Given the description of an element on the screen output the (x, y) to click on. 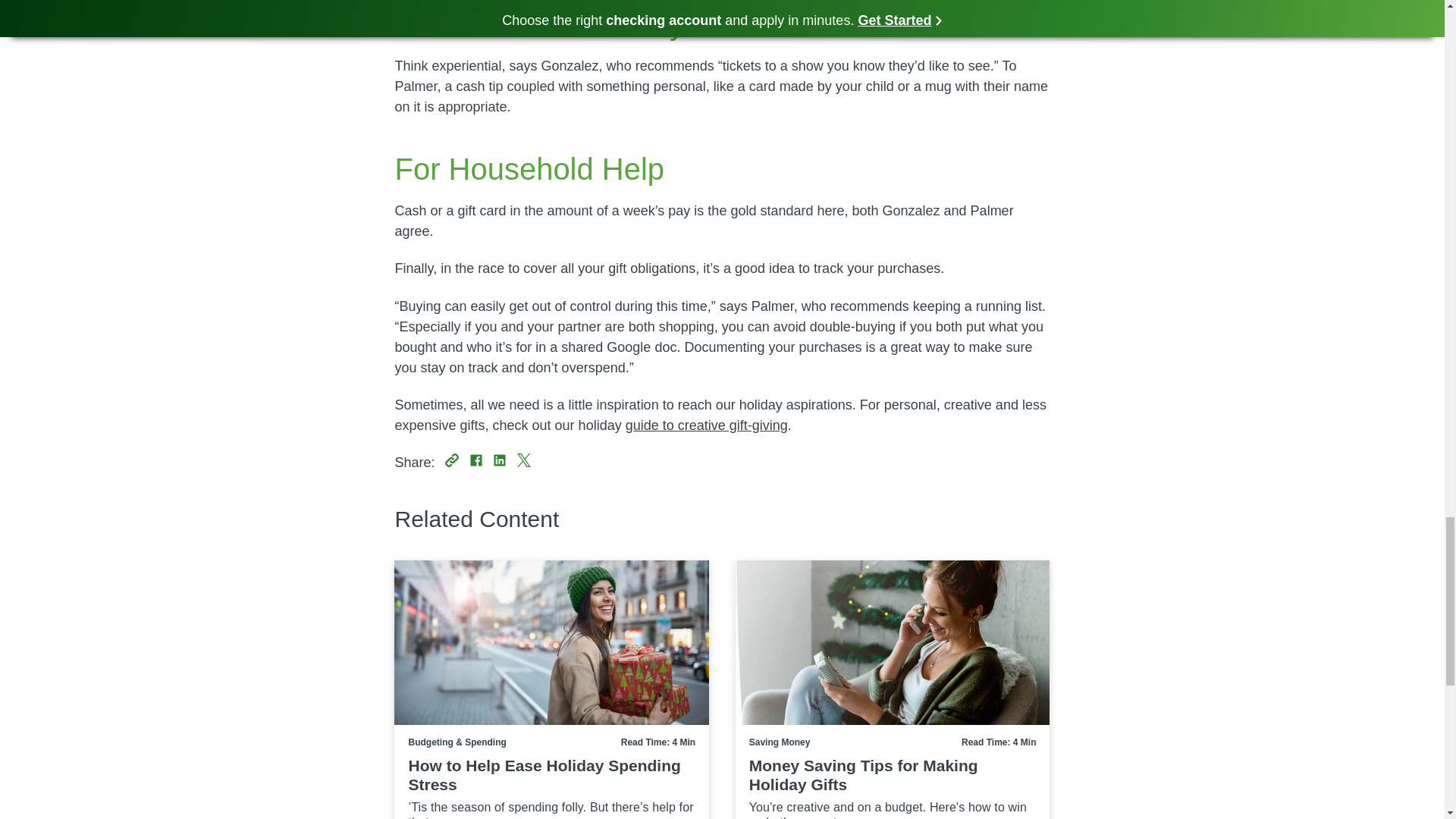
Visit Huntington's X page (523, 459)
Visit Huntington's Facebook page (475, 459)
Visit Huntington's LinkedIn page (499, 459)
